Given the description of an element on the screen output the (x, y) to click on. 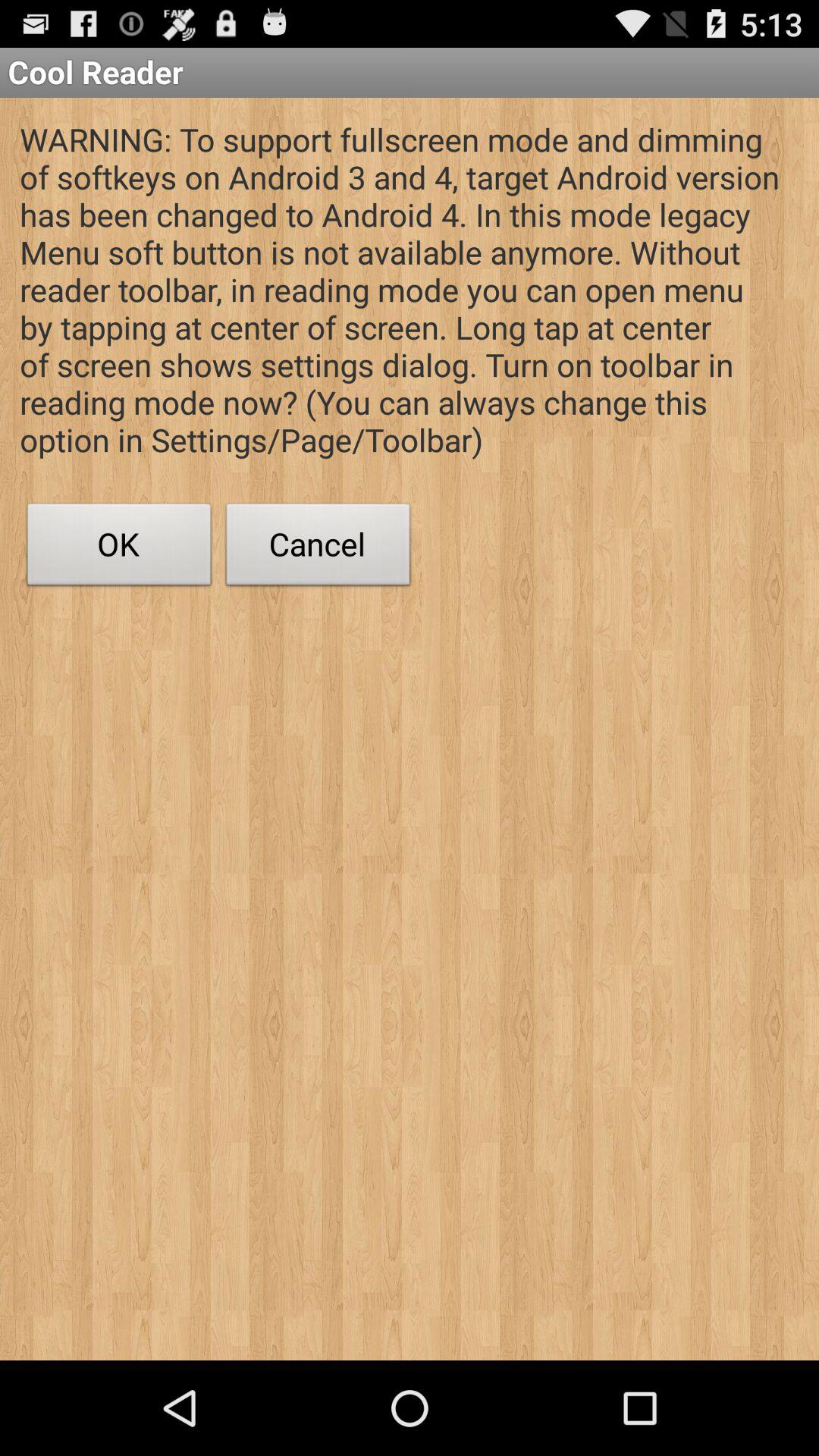
select the item at the center (318, 548)
